Given the description of an element on the screen output the (x, y) to click on. 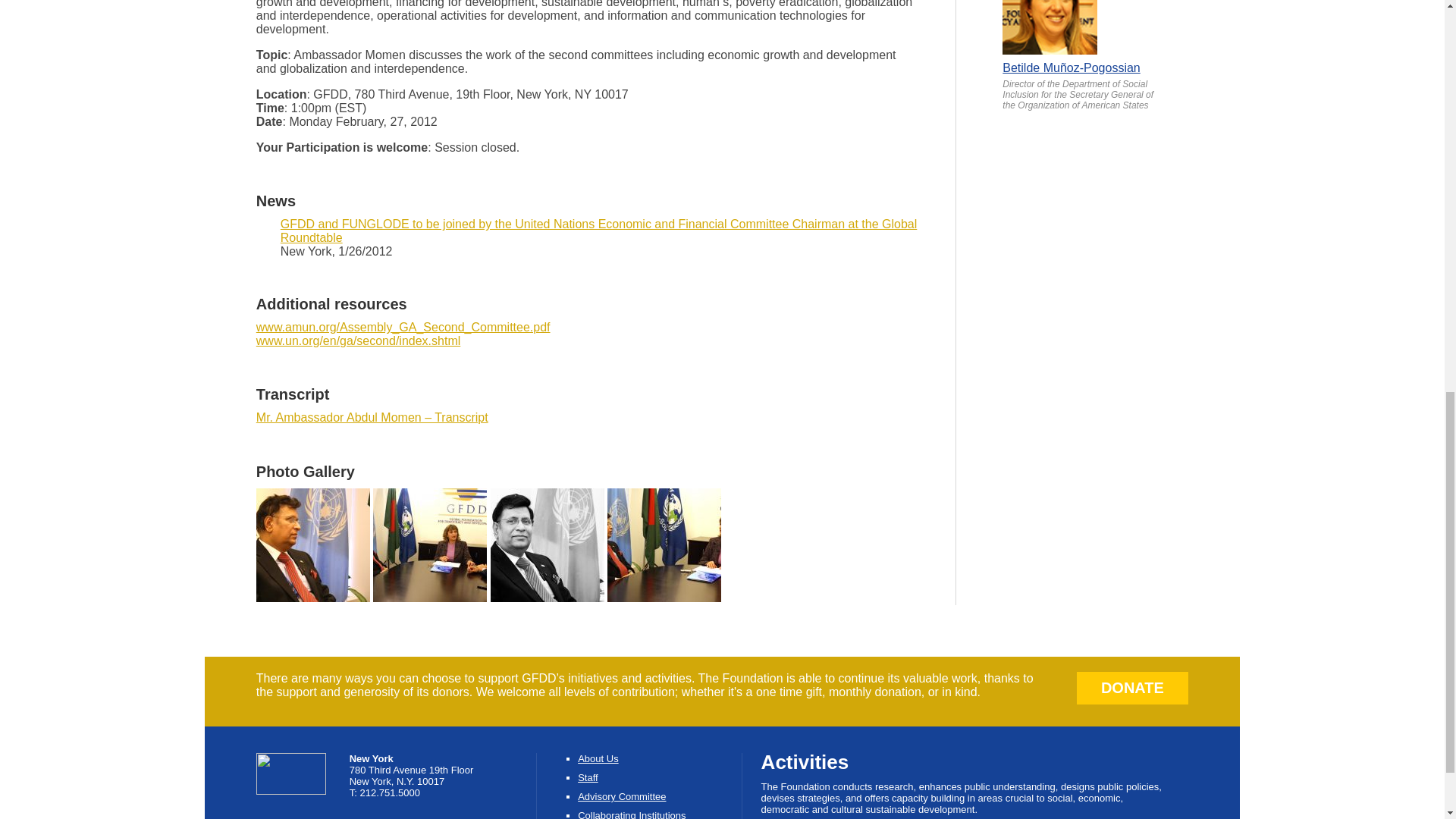
DONATE (1133, 687)
About Us (597, 758)
Staff (588, 777)
